Given the description of an element on the screen output the (x, y) to click on. 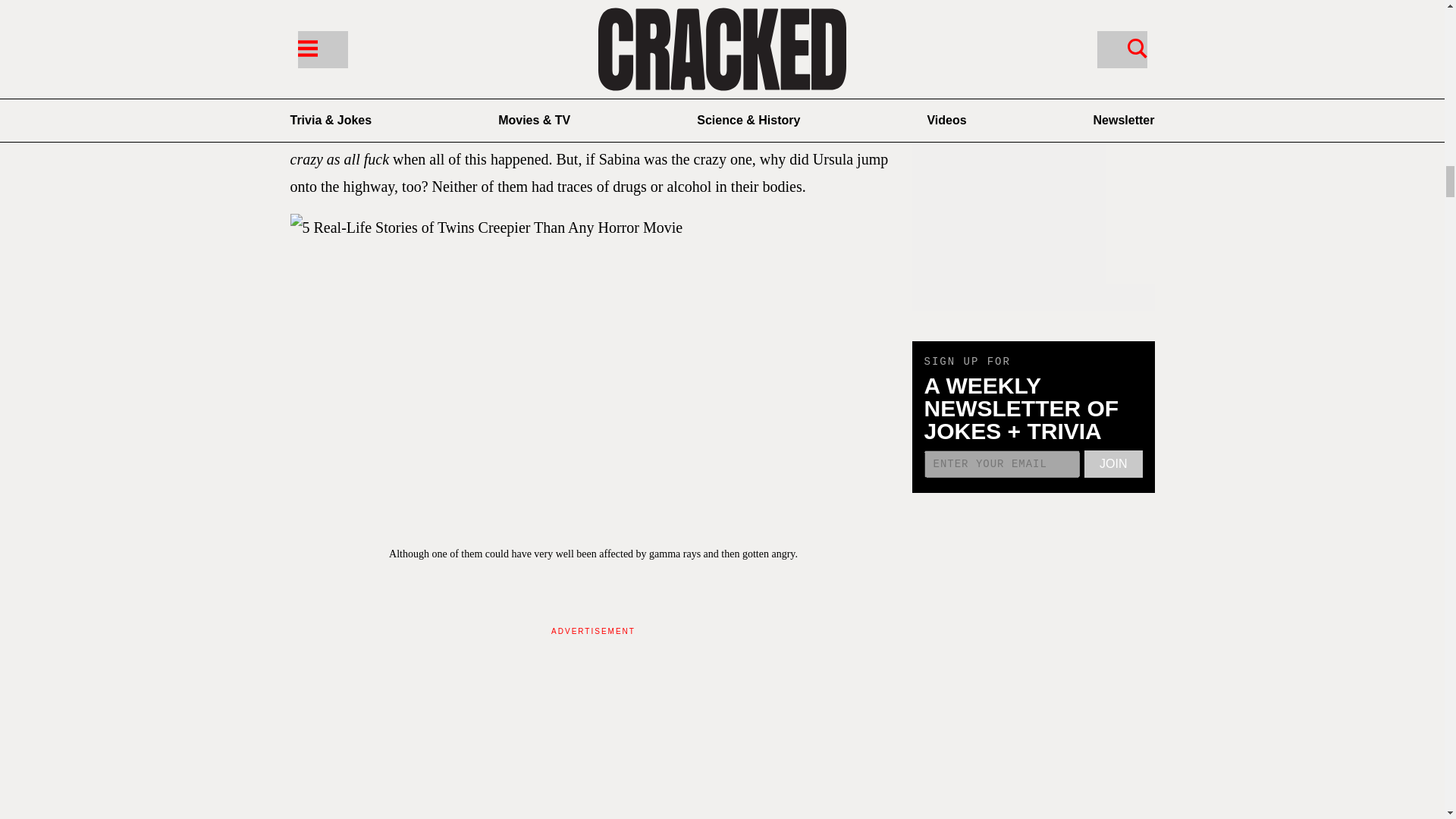
behaving so normally (608, 49)
murdered a man who offered her a place to stay (587, 90)
